Given the description of an element on the screen output the (x, y) to click on. 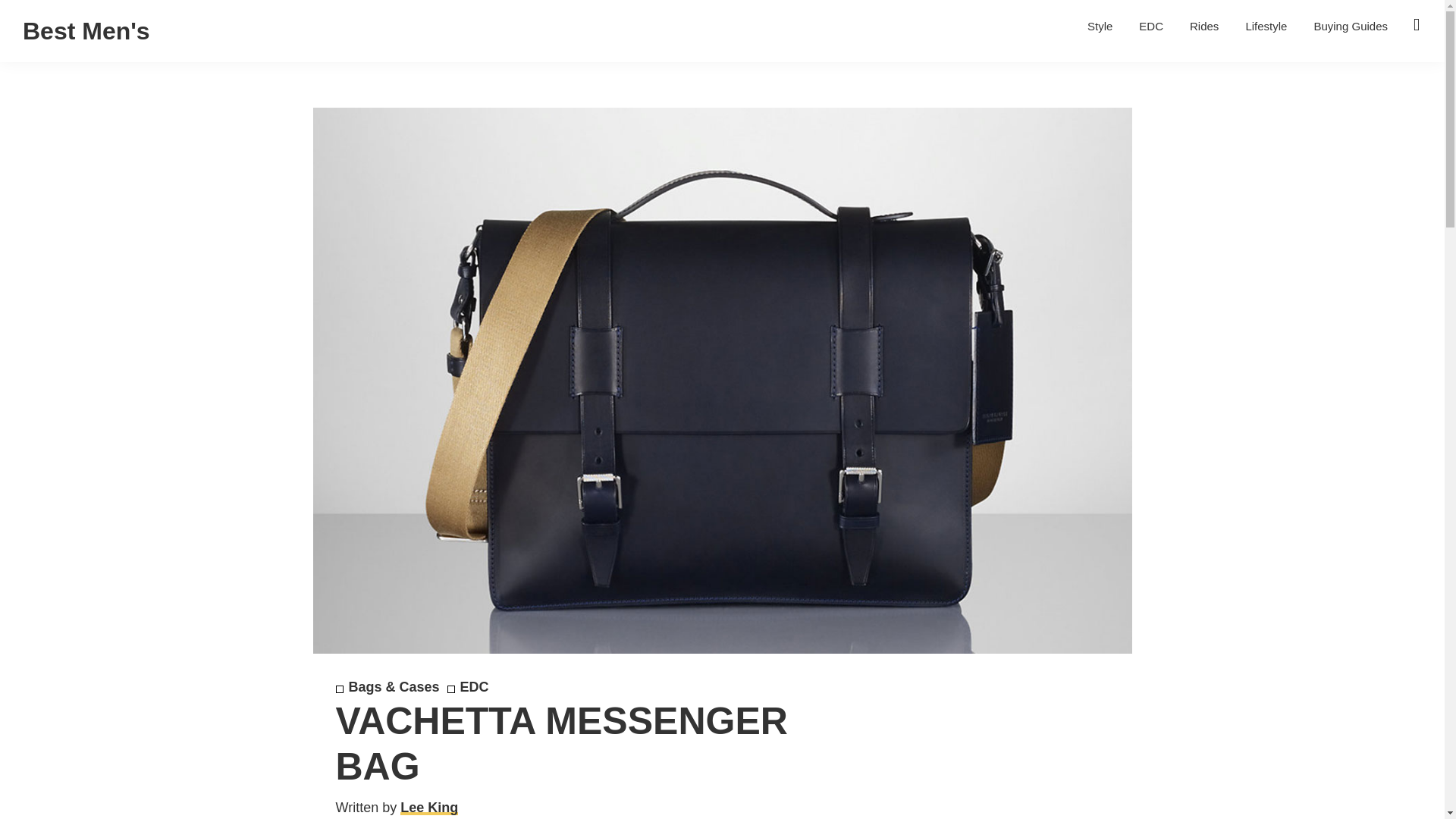
EDC (467, 686)
Lifestyle (1265, 25)
Buying Guides (1350, 25)
Rides (1203, 25)
EDC (1150, 25)
Advertisement (973, 760)
Lee King (429, 807)
Best Men's (86, 31)
Style (1099, 25)
